Given the description of an element on the screen output the (x, y) to click on. 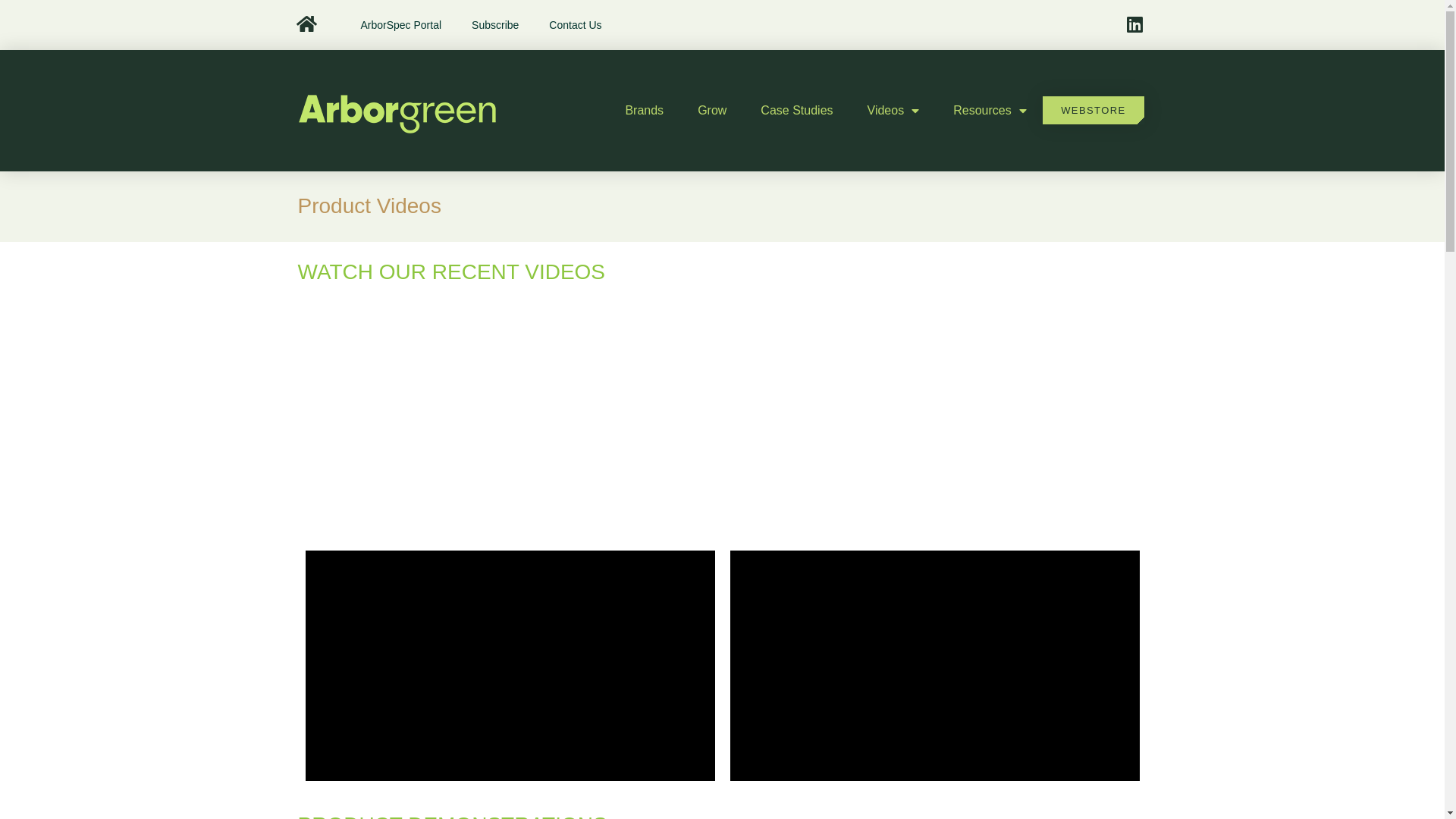
Grow Element type: text (711, 110)
Videos Element type: text (893, 110)
Brands Element type: text (643, 110)
Subscribe Element type: text (494, 24)
Contact Us Element type: text (574, 24)
WEBSTORE Element type: text (1092, 110)
Resources Element type: text (989, 110)
vimeo Video Player Element type: hover (934, 665)
vimeo Video Player Element type: hover (509, 665)
ArborSpec Portal Element type: text (400, 24)
Case Studies Element type: text (796, 110)
